Given the description of an element on the screen output the (x, y) to click on. 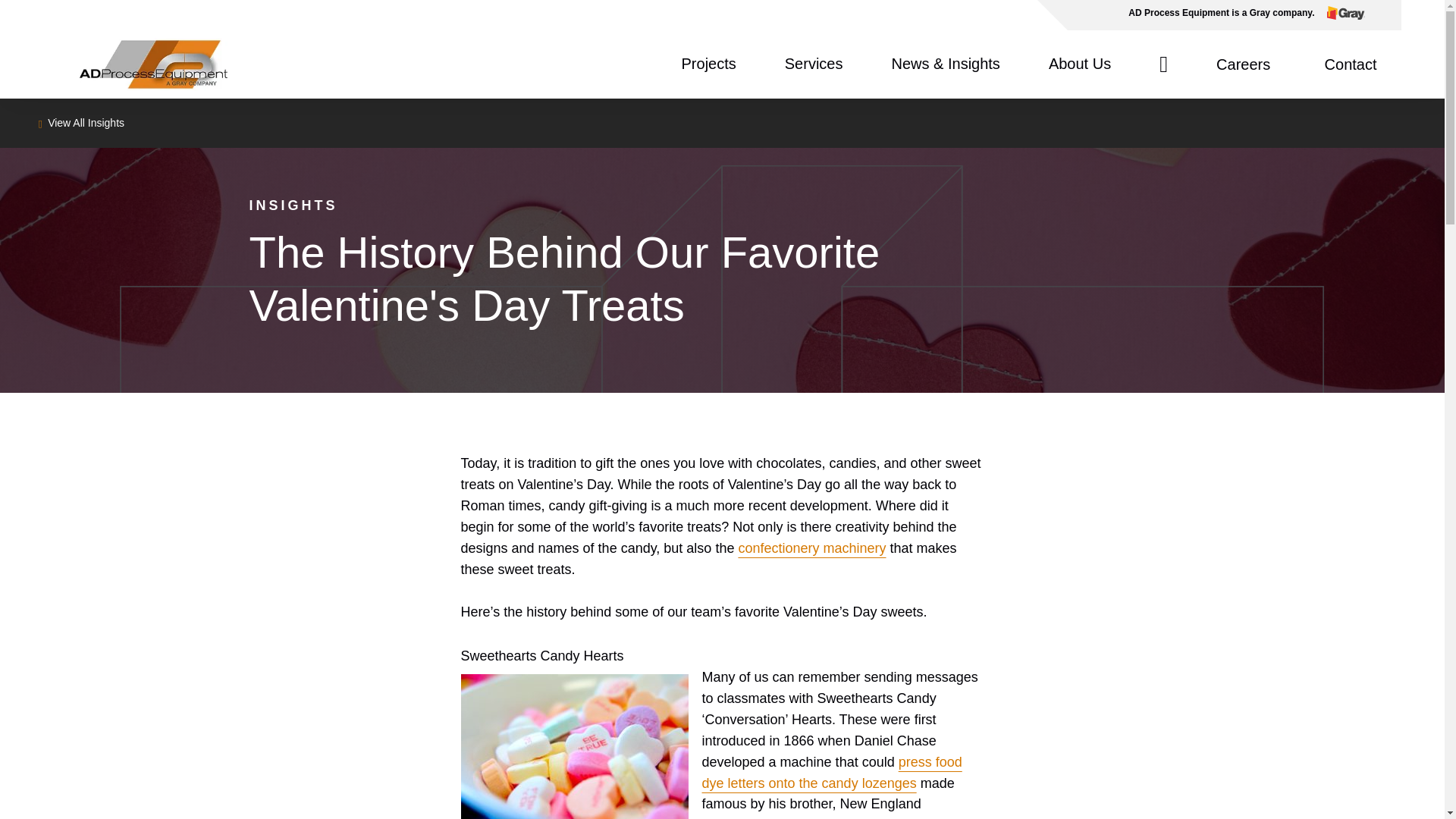
Services (813, 63)
View All Insights (80, 122)
Projects (708, 63)
press food dye letters onto the candy lozenges (831, 772)
AD Process Equipment is a Gray company. (1233, 15)
Contact (1350, 64)
Careers (1245, 64)
confectionery machinery (811, 548)
About Us (1079, 63)
